Given the description of an element on the screen output the (x, y) to click on. 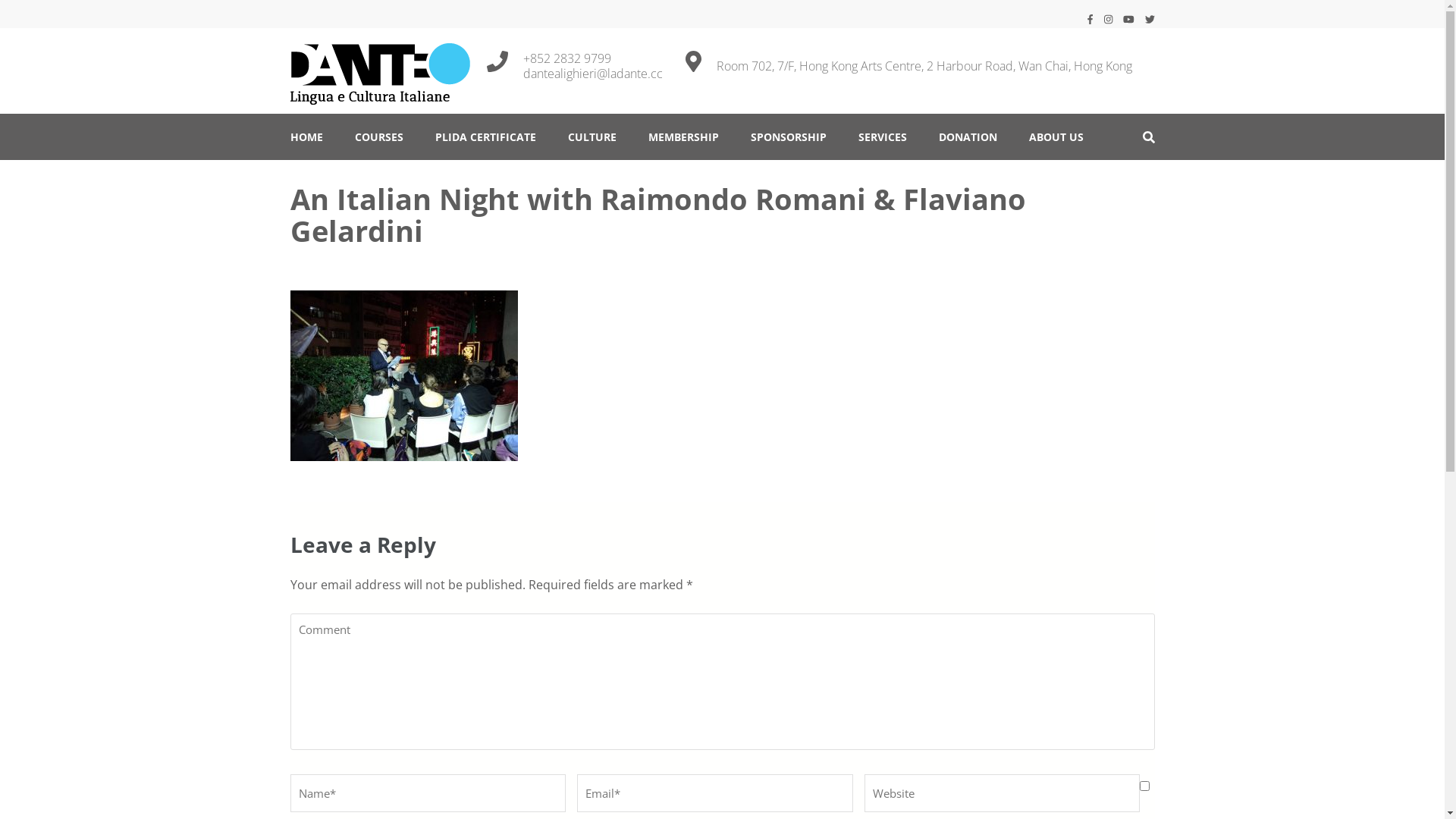
CULTURE Element type: text (591, 136)
DONATION Element type: text (967, 136)
dantealighieri@ladante.cc Element type: text (592, 73)
Dante Alighieri Society in Hong Kong Element type: text (503, 117)
HOME Element type: text (305, 136)
instagram Element type: hover (1108, 18)
COURSES Element type: text (378, 136)
+852 2832 9799 Element type: text (592, 57)
facebook Element type: hover (1089, 18)
ABOUT US Element type: text (1055, 136)
youtube Element type: hover (1128, 18)
SPONSORSHIP Element type: text (788, 136)
SERVICES Element type: text (882, 136)
PLIDA CERTIFICATE Element type: text (485, 136)
twitter Element type: hover (1149, 18)
MEMBERSHIP Element type: text (682, 136)
